Given the description of an element on the screen output the (x, y) to click on. 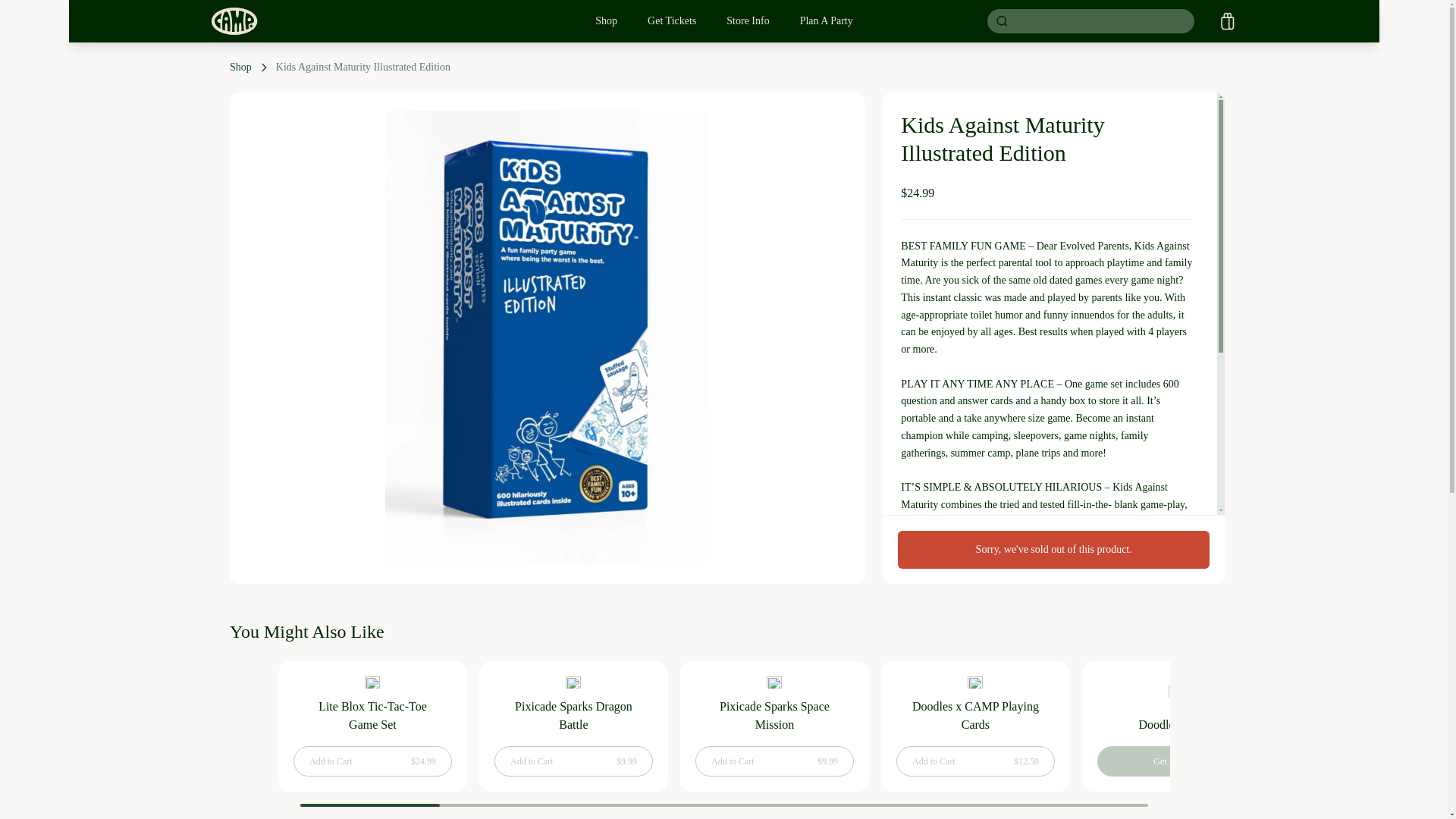
Pixicade Sparks Space Mission (774, 725)
Search (997, 20)
Cart (1227, 21)
Pixicade Sparks Space Mission (773, 715)
Shop (240, 67)
Doodles Puzzle (1176, 724)
Home (234, 21)
Doodles x CAMP Playing Cards (974, 715)
Get Tickets (671, 21)
Store Info (747, 21)
Lite Blox Tic-Tac-Toe Game Set (373, 715)
Lite Blox Tic-Tac-Toe Game Set (372, 725)
Plan A Party (825, 21)
Pixicade Sparks Dragon Battle (574, 715)
Shop (606, 21)
